Given the description of an element on the screen output the (x, y) to click on. 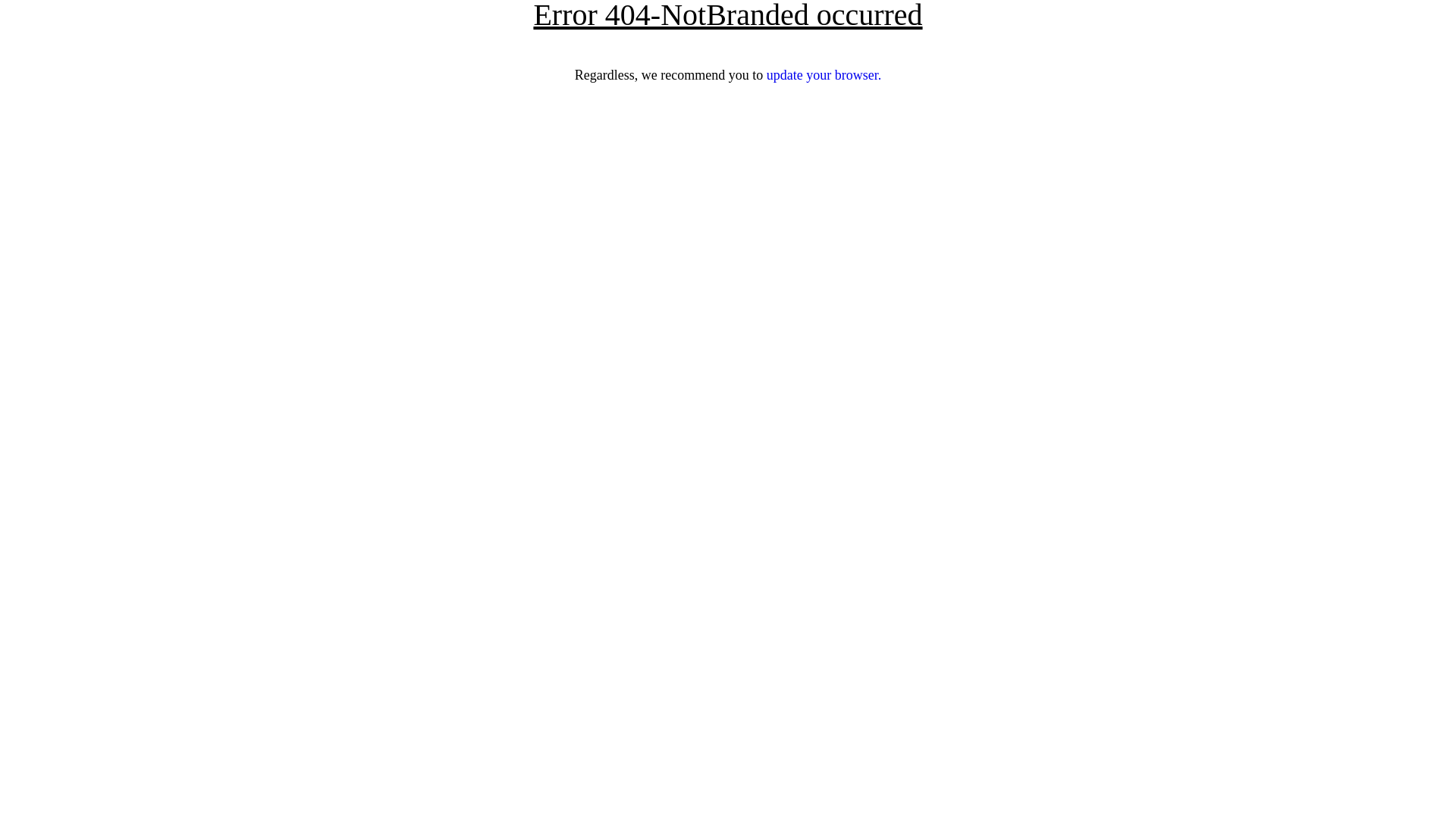
update your browser. Element type: text (823, 74)
